Given the description of an element on the screen output the (x, y) to click on. 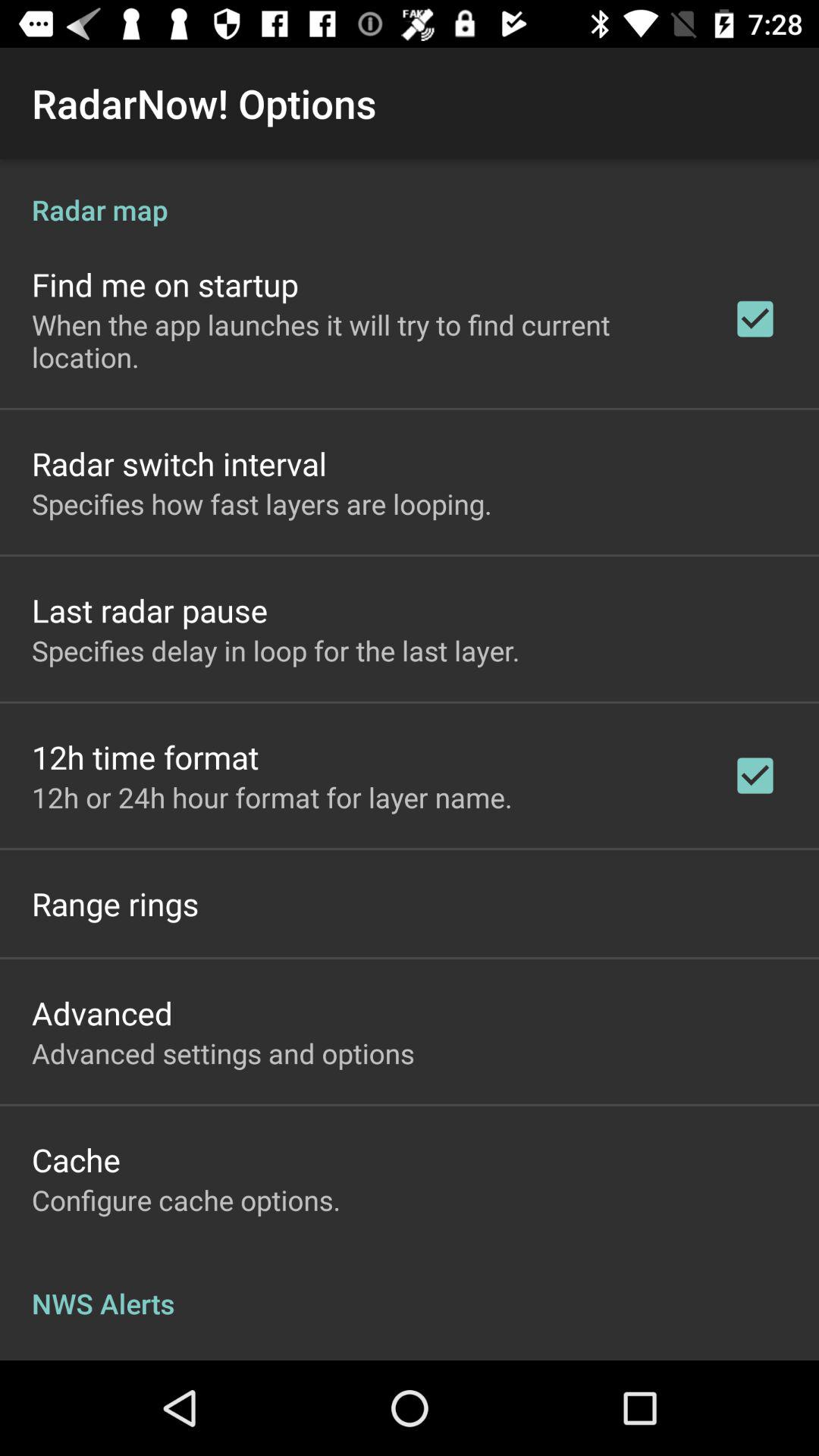
launch configure cache options. app (185, 1199)
